Given the description of an element on the screen output the (x, y) to click on. 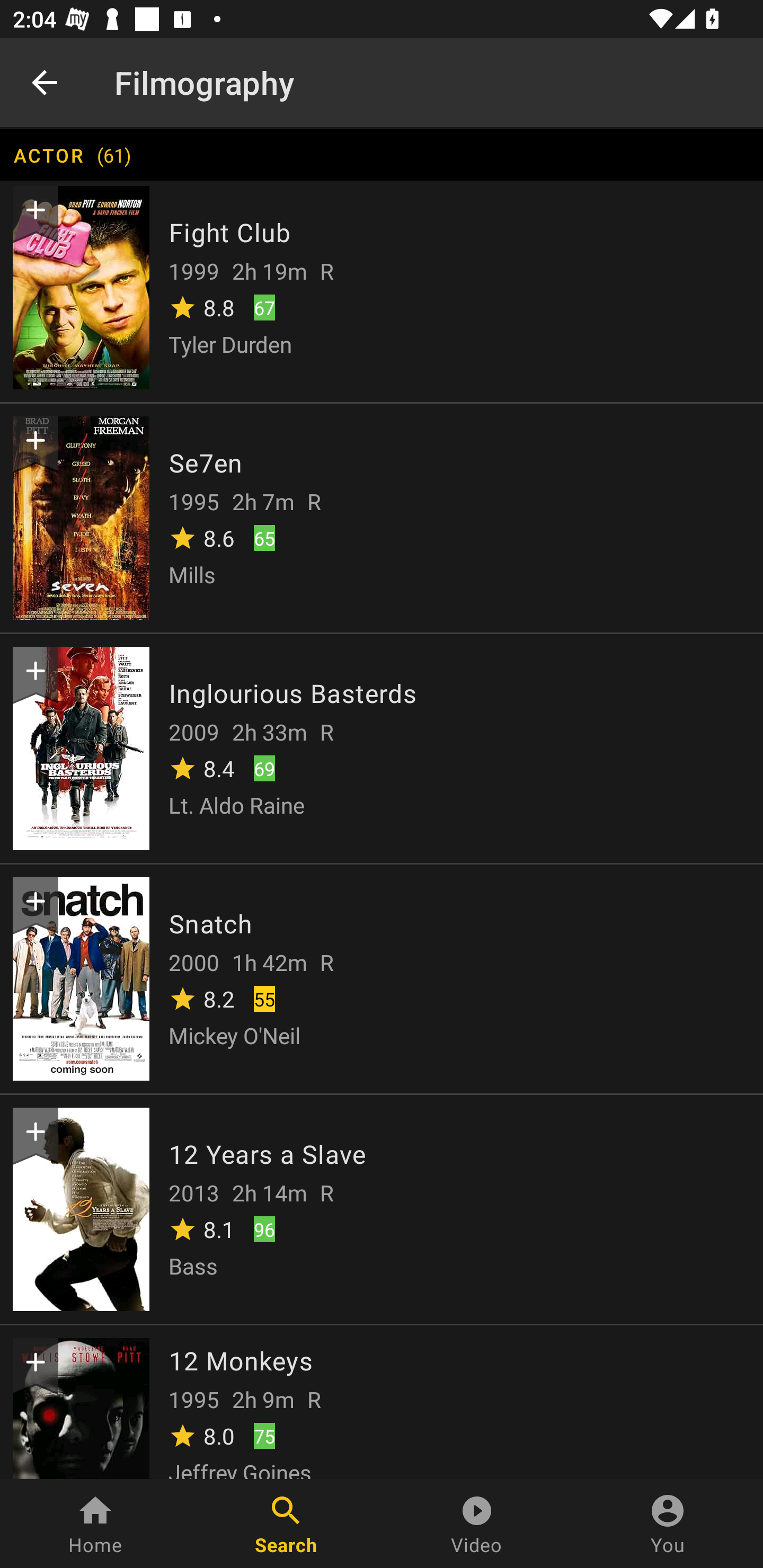
Fight Club 1999 2h 19m R 8.8 67 Tyler Durden (381, 285)
Se7en 1995 2h 7m R 8.6 65 Mills (381, 516)
Snatch 2000 1h 42m R 8.2 55 Mickey O'Neil (381, 977)
12 Years a Slave 2013 2h 14m R 8.1 96 Bass (381, 1207)
12 Monkeys 1995 2h 9m R 8.0 75 Jeffrey Goines (381, 1400)
Home (95, 1523)
Video (476, 1523)
You (667, 1523)
